Given the description of an element on the screen output the (x, y) to click on. 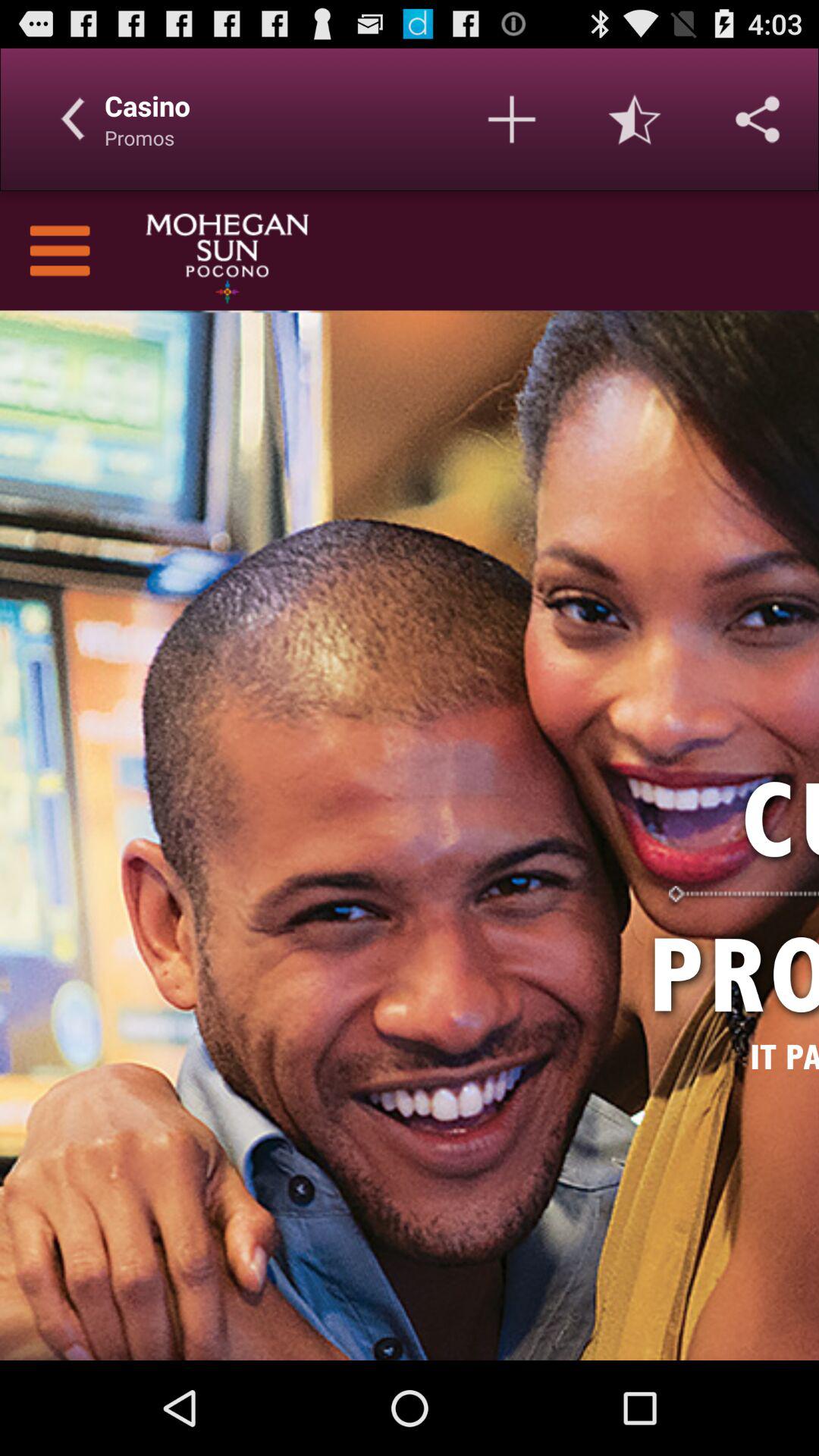
add a bookmark (511, 119)
